Given the description of an element on the screen output the (x, y) to click on. 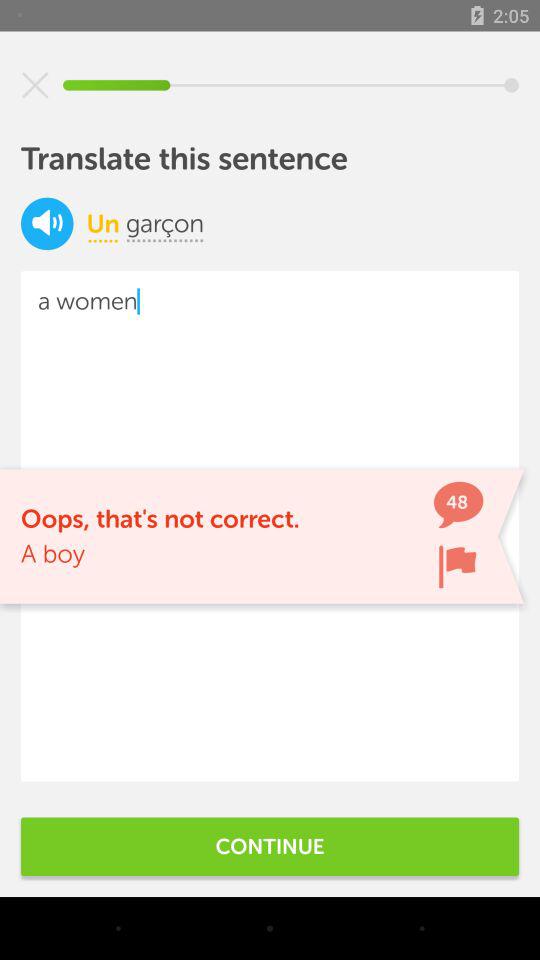
choose the icon below translate this sentence (165, 223)
